Given the description of an element on the screen output the (x, y) to click on. 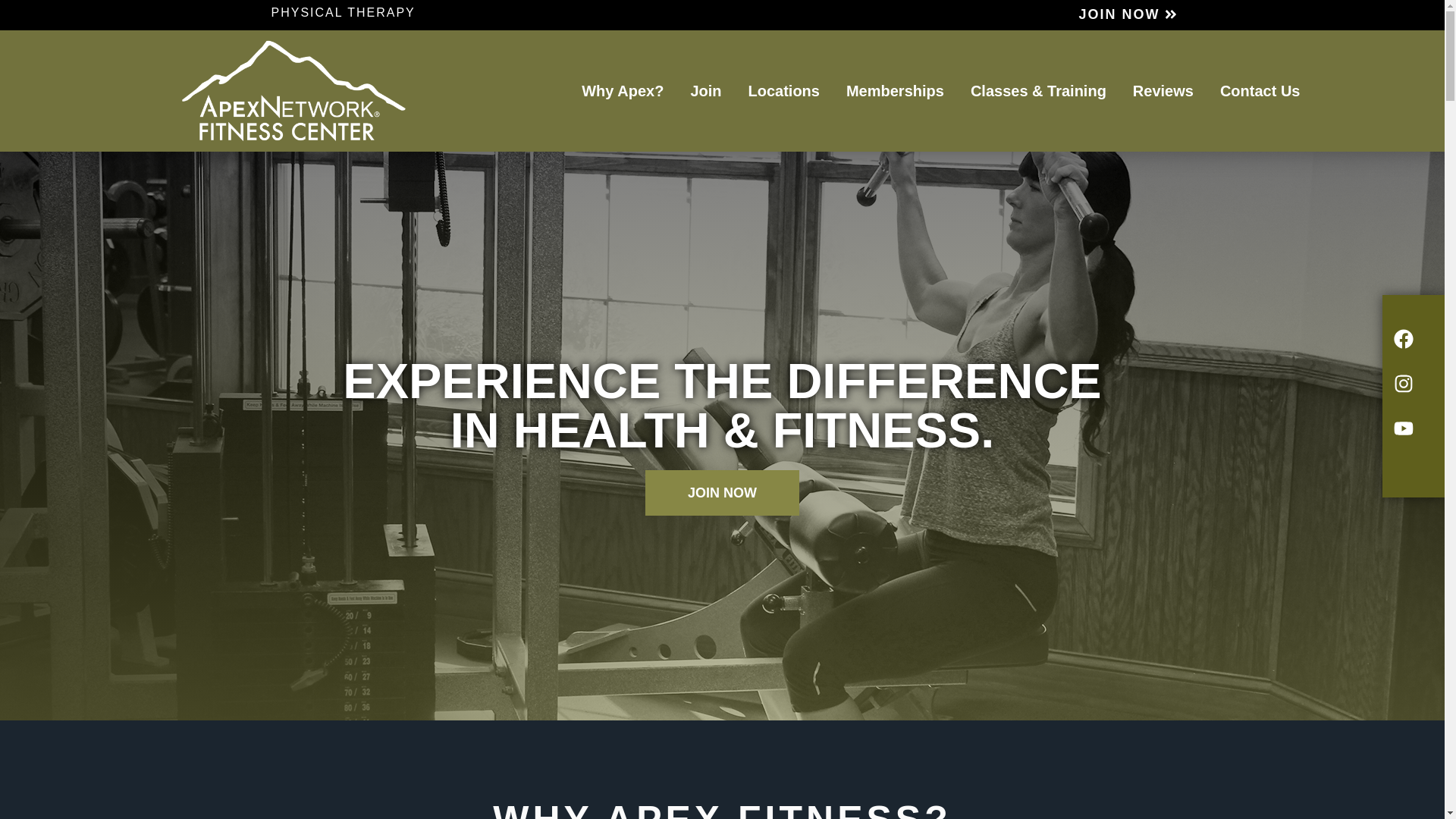
JOIN NOW (1127, 15)
Join (705, 90)
PHYSICAL THERAPY (340, 12)
Memberships (894, 90)
Contact Us (1260, 90)
Locations (783, 90)
Reviews (1162, 90)
Why Apex? (621, 90)
